Given the description of an element on the screen output the (x, y) to click on. 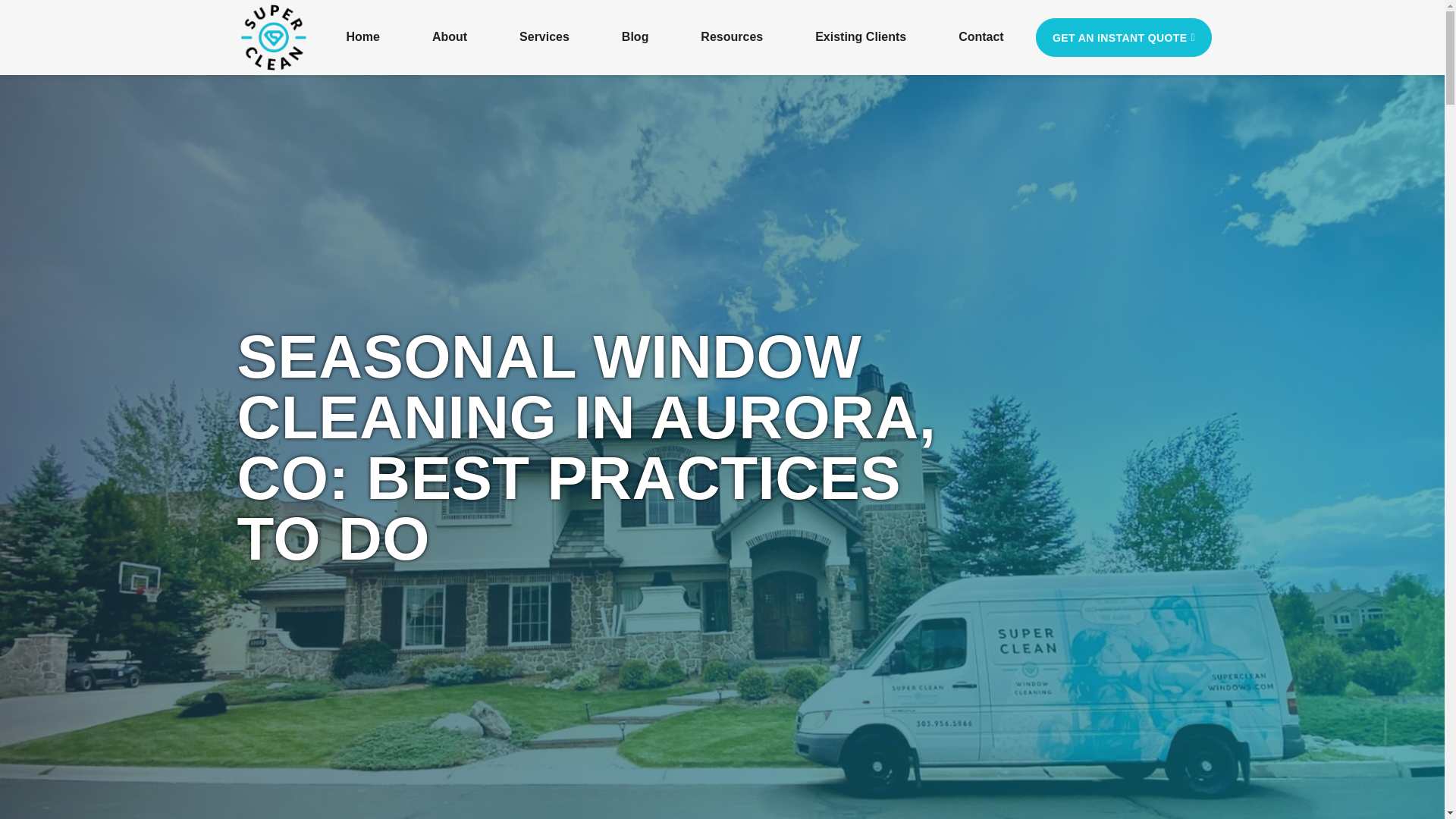
Contact (981, 36)
Blog (634, 36)
Home (362, 36)
About (449, 36)
Existing Clients (860, 36)
Services (544, 36)
Resources (732, 36)
